Given the description of an element on the screen output the (x, y) to click on. 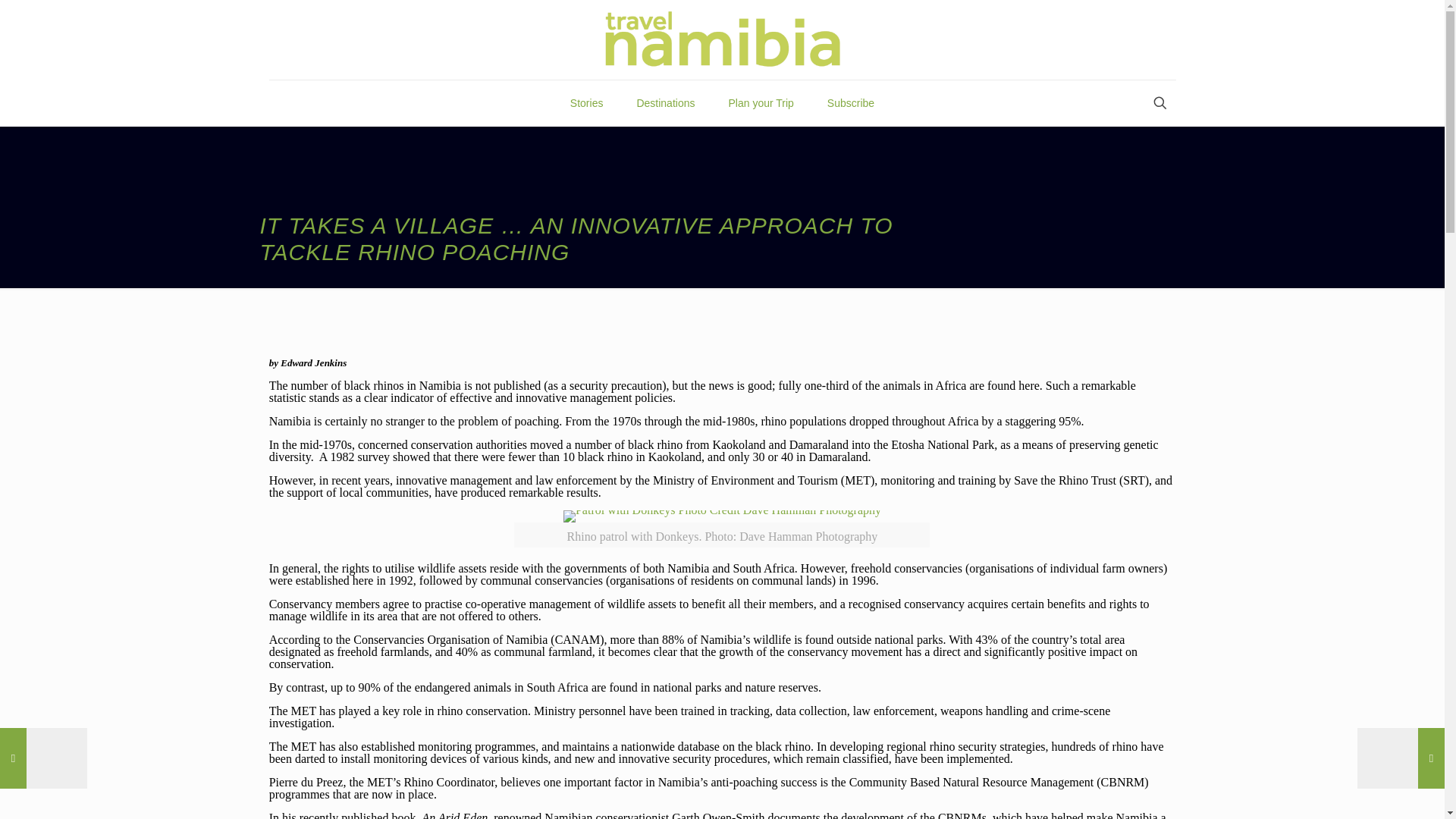
Plan your Trip (760, 103)
Subscribe (850, 103)
Travel Namibia (722, 39)
Destinations (665, 103)
Stories (586, 103)
